Given the description of an element on the screen output the (x, y) to click on. 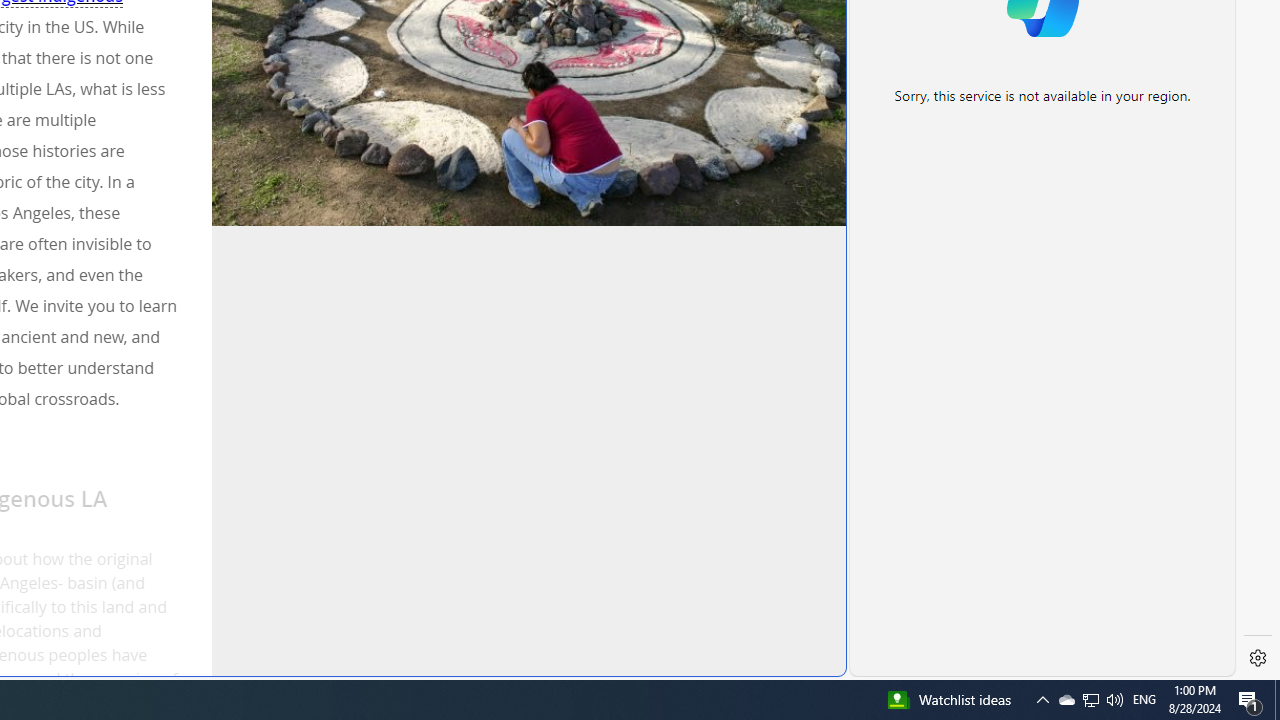
Return to narrative (534, 645)
